Given the description of an element on the screen output the (x, y) to click on. 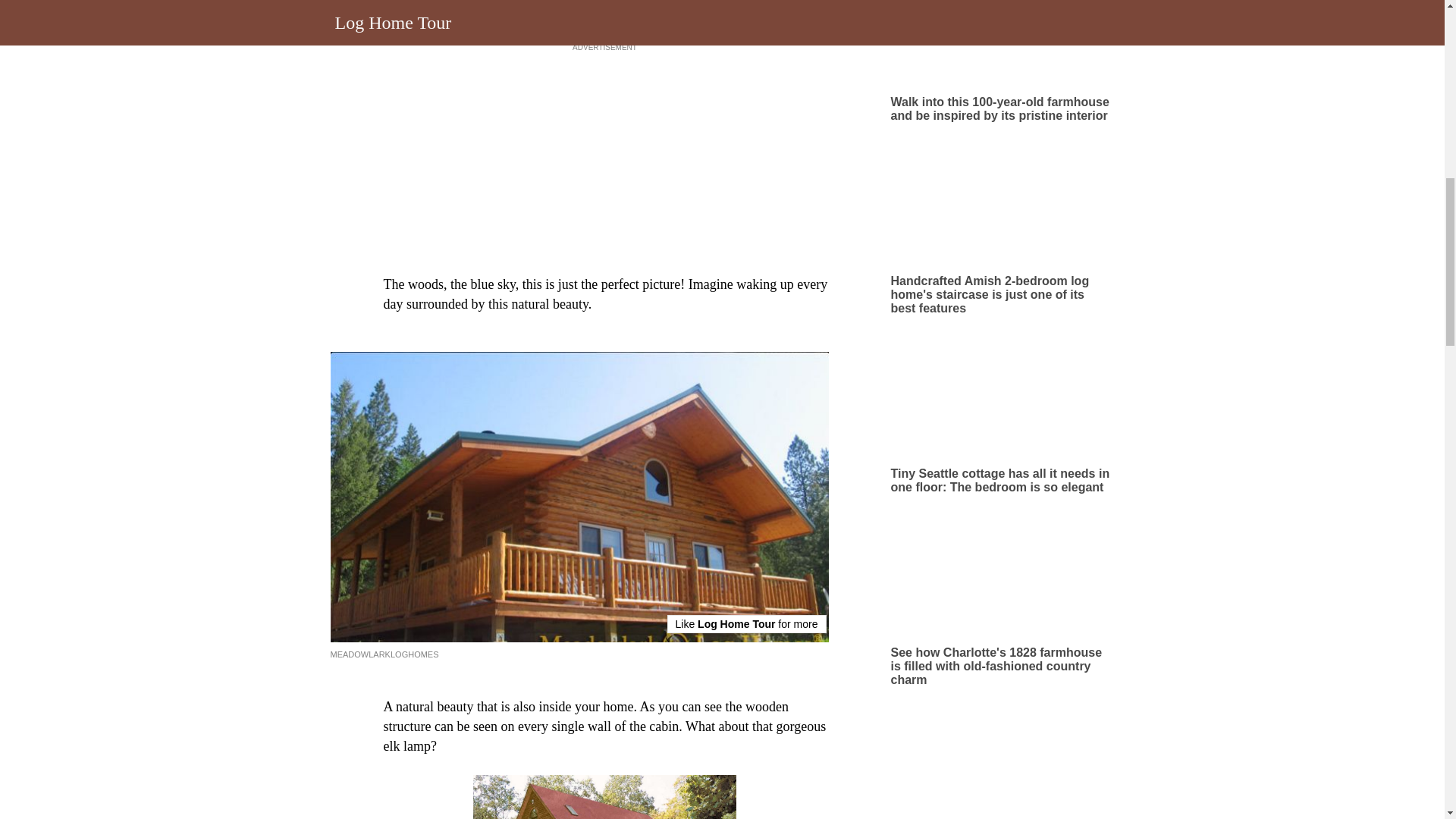
About Ads (645, 62)
Terms of Use (710, 62)
Do Not Sell My Info (870, 62)
Privacy Policy (782, 62)
MEADOWLARKLOGHOMES (384, 654)
